Given the description of an element on the screen output the (x, y) to click on. 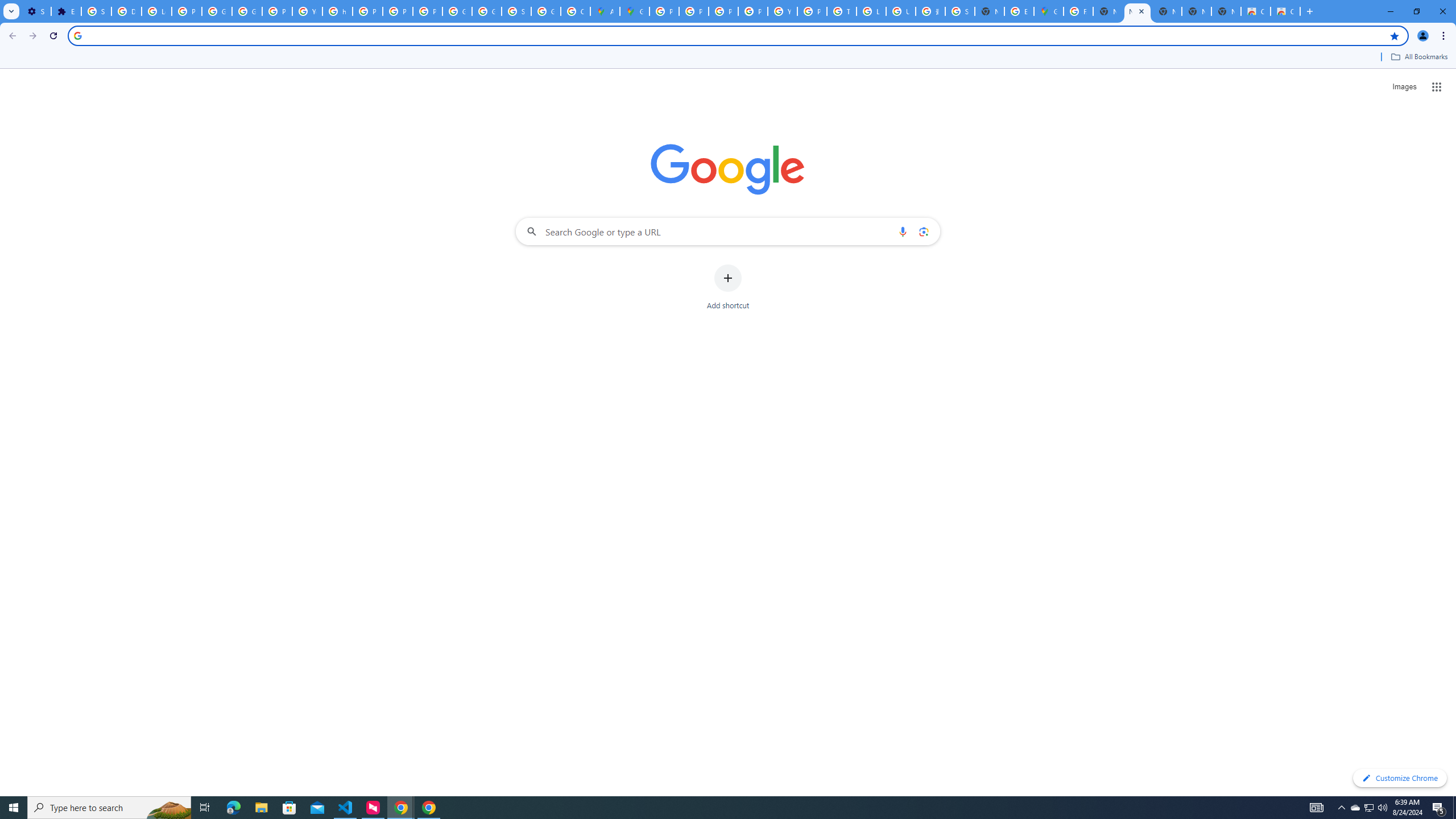
Create your Google Account (575, 11)
Privacy Help Center - Policies Help (367, 11)
Chrome (1445, 35)
Back (10, 35)
Search icon (77, 35)
Bookmarks (728, 58)
Delete photos & videos - Computer - Google Photos Help (126, 11)
YouTube (782, 11)
